Given the description of an element on the screen output the (x, y) to click on. 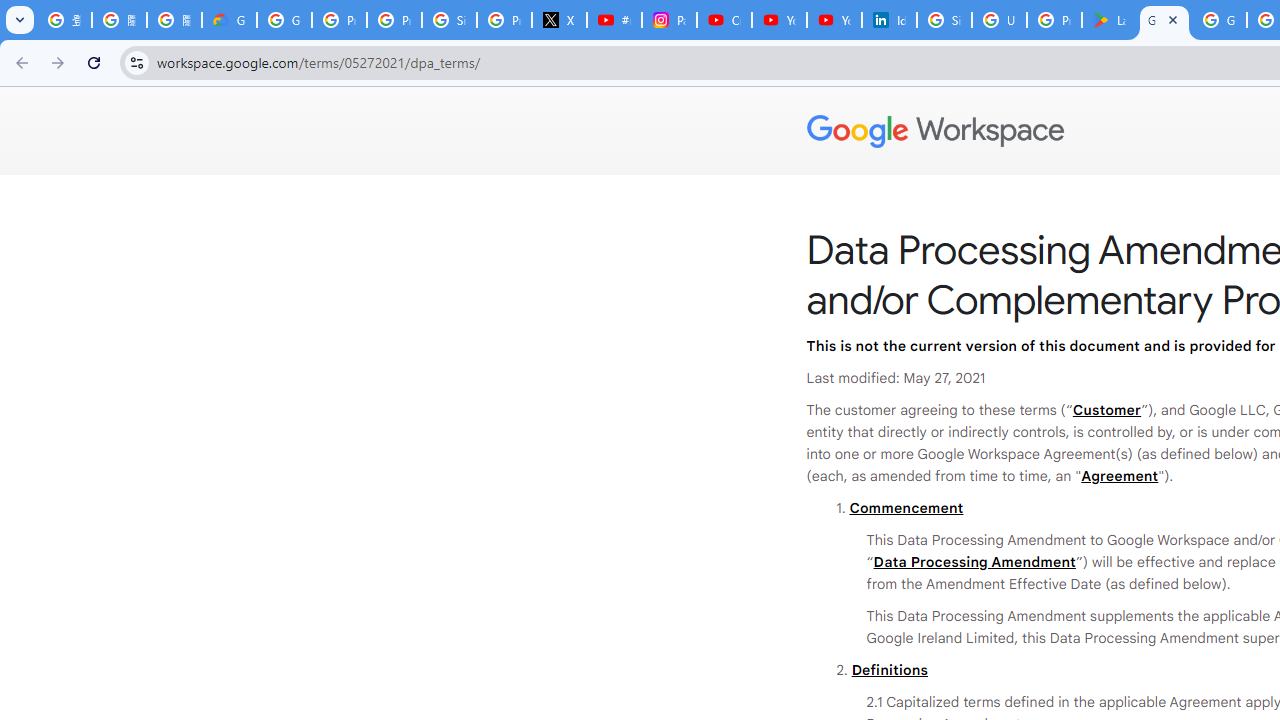
Google Cloud Privacy Notice (229, 20)
YouTube Culture & Trends - YouTube Top 10, 2021 (833, 20)
#nbabasketballhighlights - YouTube (614, 20)
Identity verification via Persona | LinkedIn Help (888, 20)
Sign in - Google Accounts (943, 20)
Last Shelter: Survival - Apps on Google Play (1108, 20)
